Given the description of an element on the screen output the (x, y) to click on. 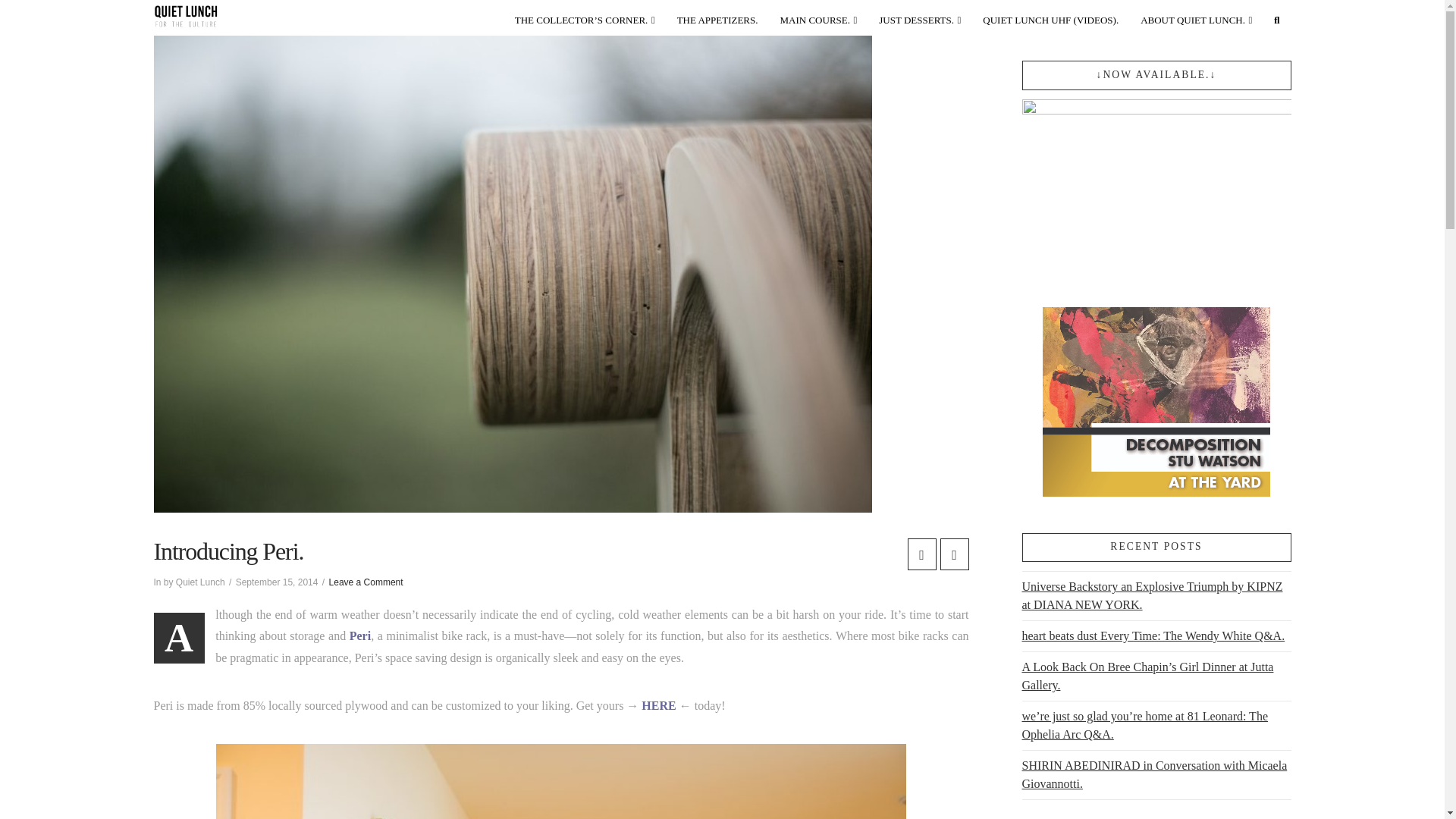
JUST DESSERTS. (919, 17)
MAIN COURSE. (819, 17)
Quiet Lunch Online Shop (584, 17)
ABOUT QUIET LUNCH. (1196, 17)
Fresh Off The Menu (718, 17)
THE APPETIZERS. (718, 17)
